Given the description of an element on the screen output the (x, y) to click on. 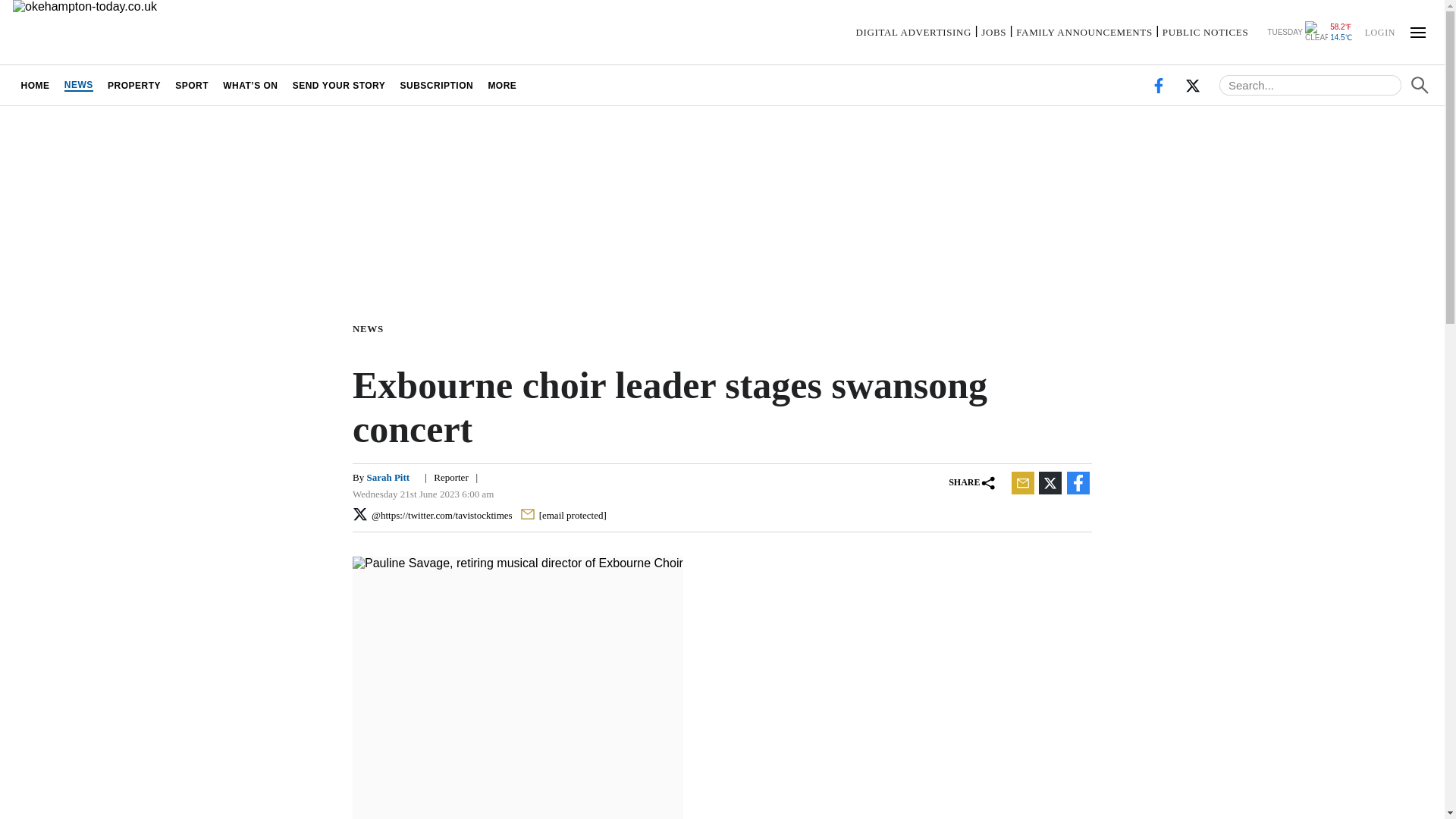
NEWS (371, 328)
MORE (502, 85)
SEND YOUR STORY (339, 85)
LOGIN (1379, 31)
NEWS (78, 85)
PROPERTY (133, 85)
SUBSCRIPTION (436, 85)
PUBLIC NOTICES (1204, 32)
Sarah Pitt (387, 477)
SPORT (191, 85)
HOME (34, 85)
